Given the description of an element on the screen output the (x, y) to click on. 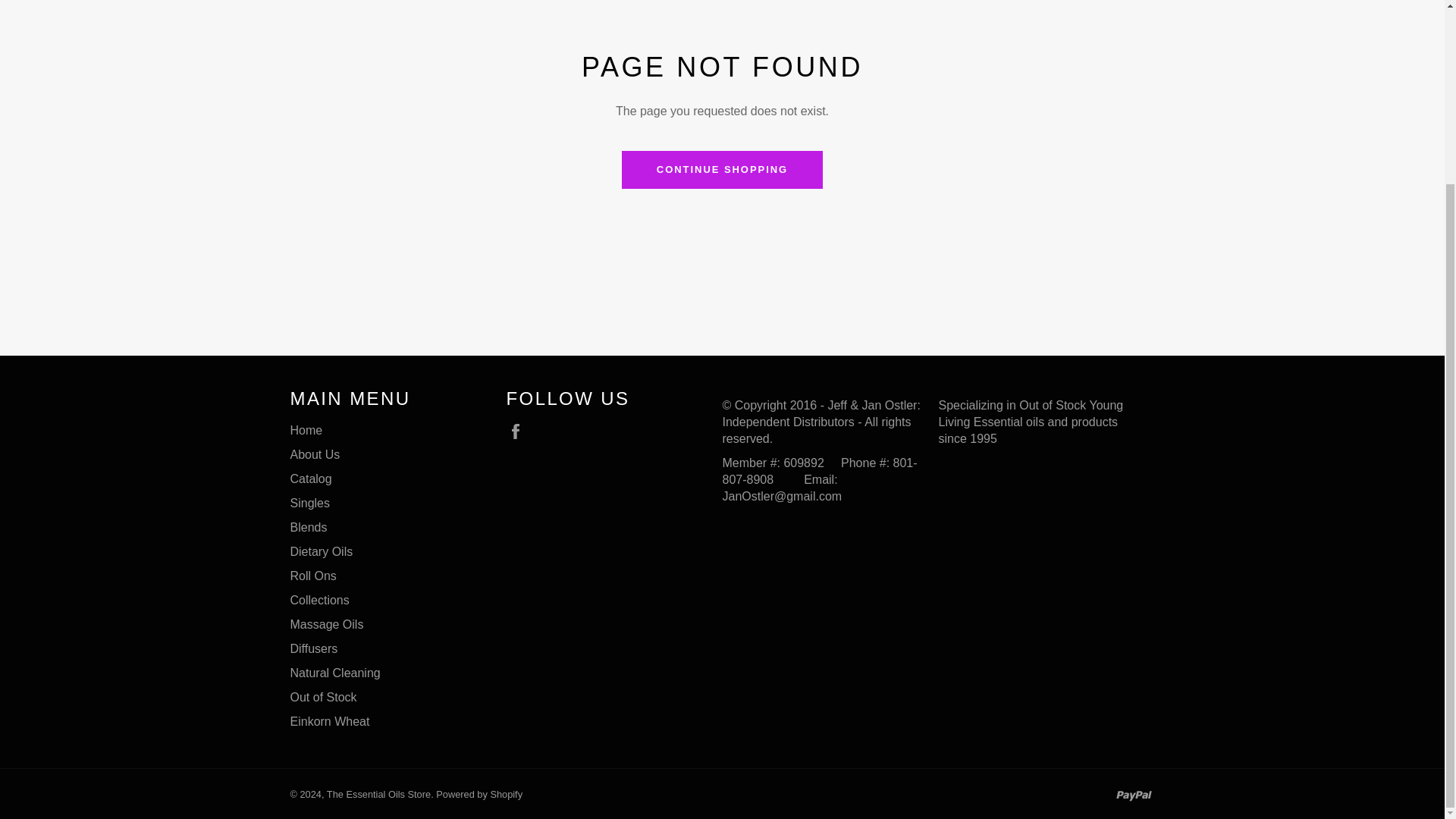
The Essential Oils Store on Facebook (519, 431)
